Given the description of an element on the screen output the (x, y) to click on. 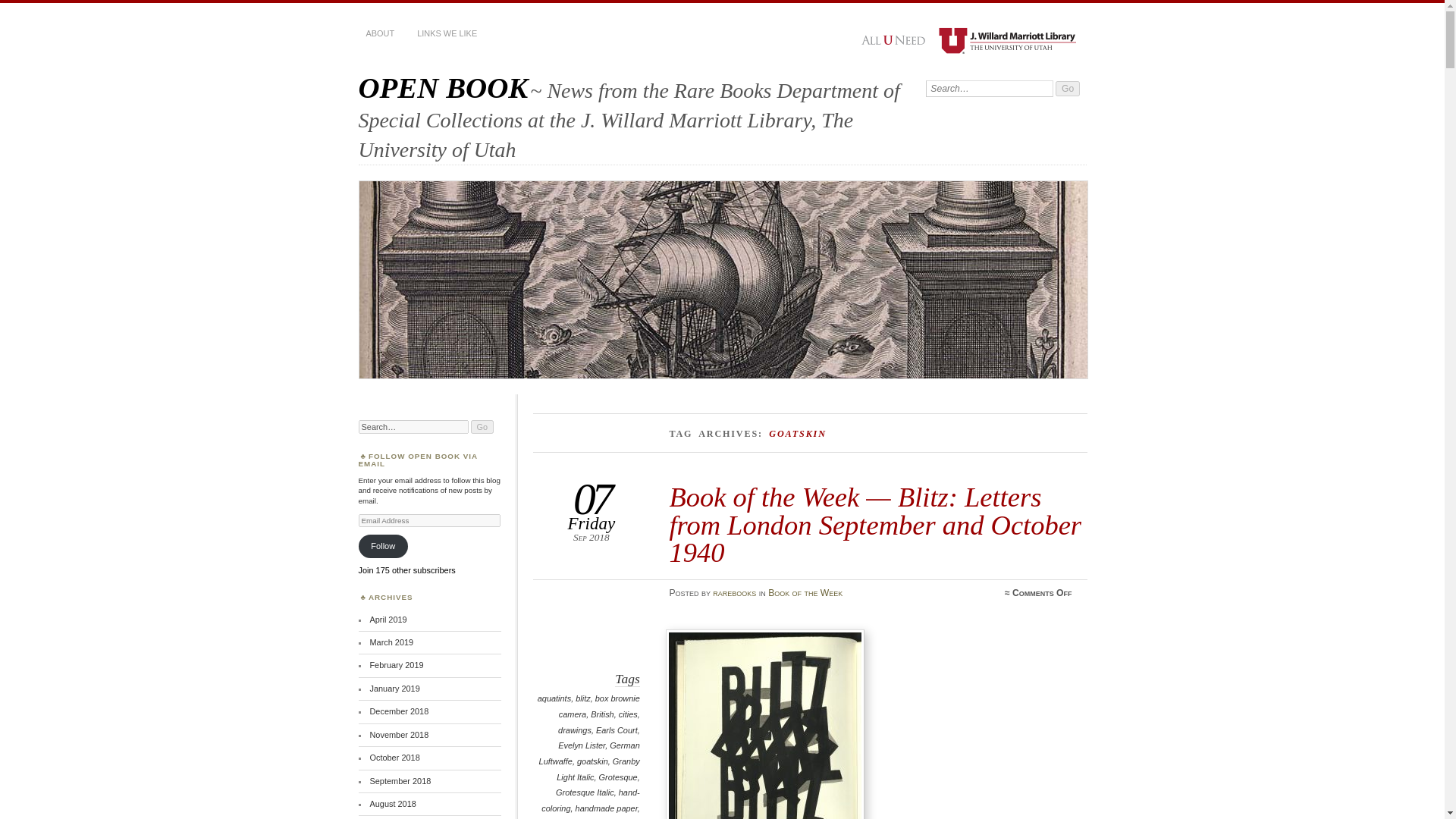
box brownie camera (599, 706)
blitz (582, 697)
rarebooks (734, 593)
Go (1067, 88)
German Luftwaffe (589, 753)
View all posts by rarebooks (734, 593)
aquatints (553, 697)
Grotesque Italic (585, 791)
Granby Light Italic (597, 769)
OPEN BOOK (442, 87)
